Given the description of an element on the screen output the (x, y) to click on. 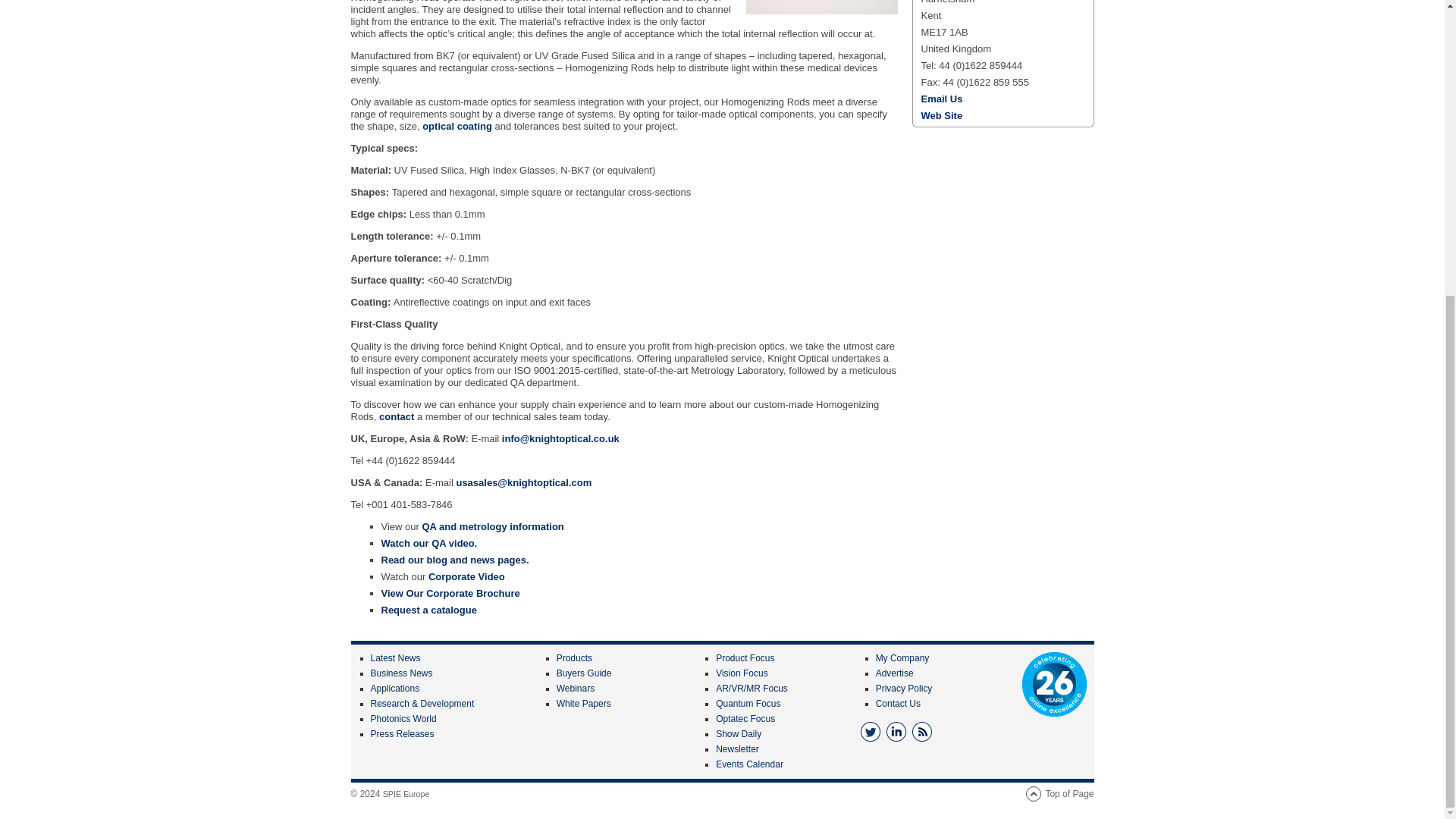
LinkedIn (895, 731)
RSS Feeds (921, 731)
Twitter (870, 731)
